Given the description of an element on the screen output the (x, y) to click on. 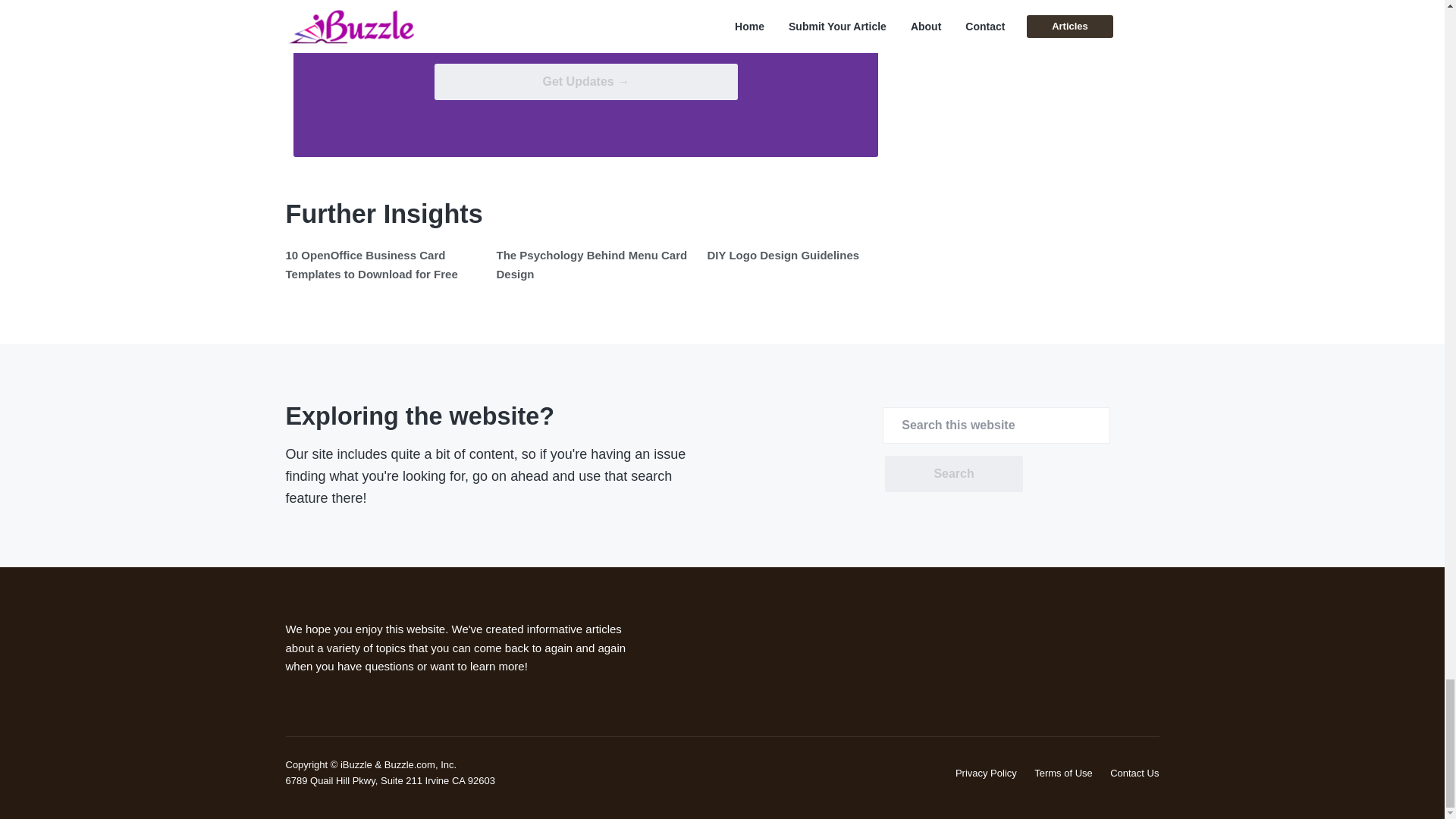
Search (953, 473)
Permanent Link to The Psychology Behind Menu Card Design (591, 264)
DIY Logo Design Guidelines (782, 254)
Permanent Link to DIY Logo Design Guidelines (782, 254)
10 OpenOffice Business Card Templates to Download for Free (371, 264)
Search (953, 473)
Search (953, 473)
The Psychology Behind Menu Card Design (591, 264)
Privacy Policy (985, 772)
